Given the description of an element on the screen output the (x, y) to click on. 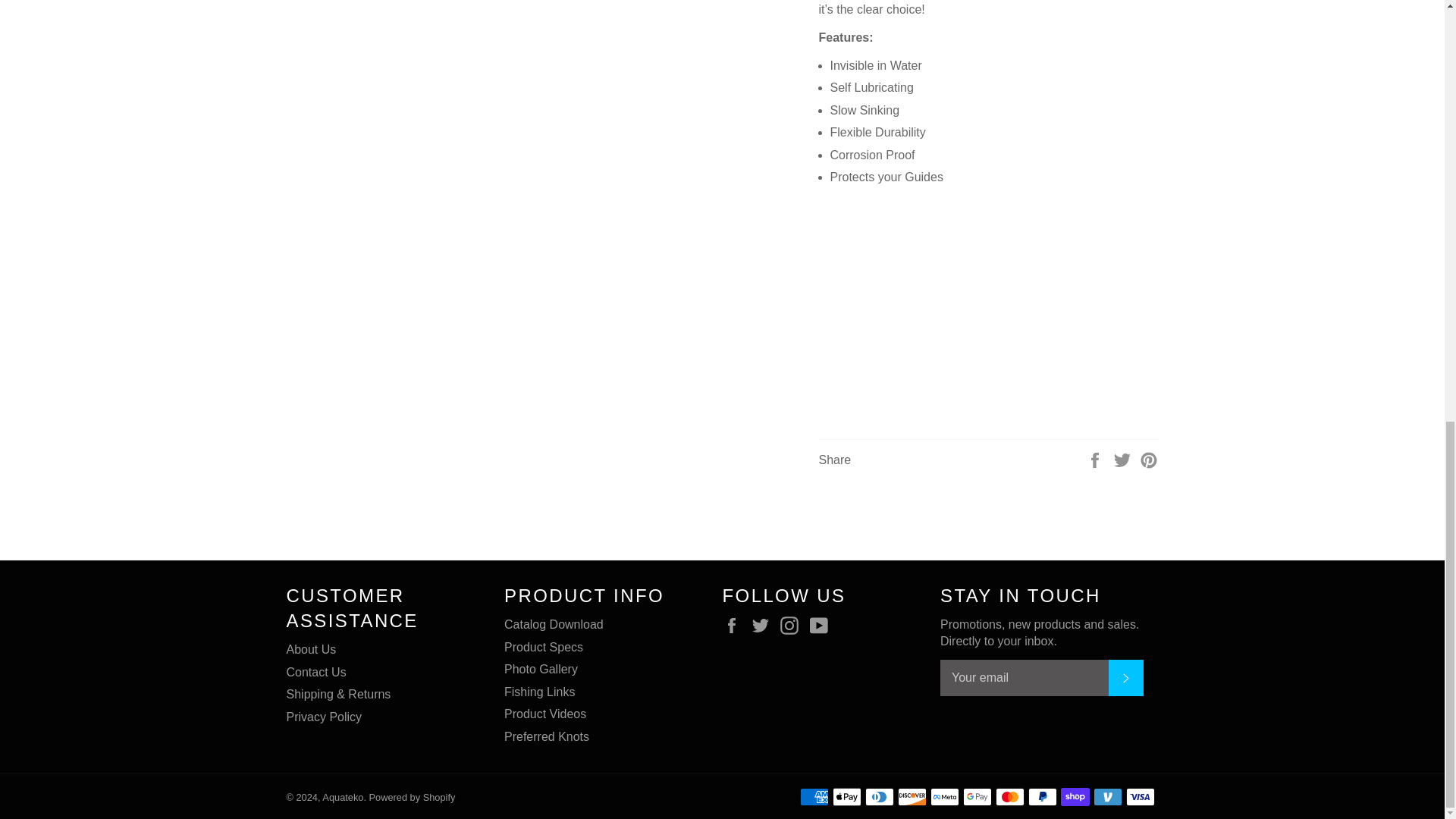
Pin on Pinterest (1148, 459)
Aquateko on Facebook (735, 625)
Share on Facebook (1096, 459)
Tweet on Twitter (1123, 459)
Aquateko on Instagram (793, 625)
Aquateko on Twitter (764, 625)
Aquateko on YouTube (822, 625)
